Given the description of an element on the screen output the (x, y) to click on. 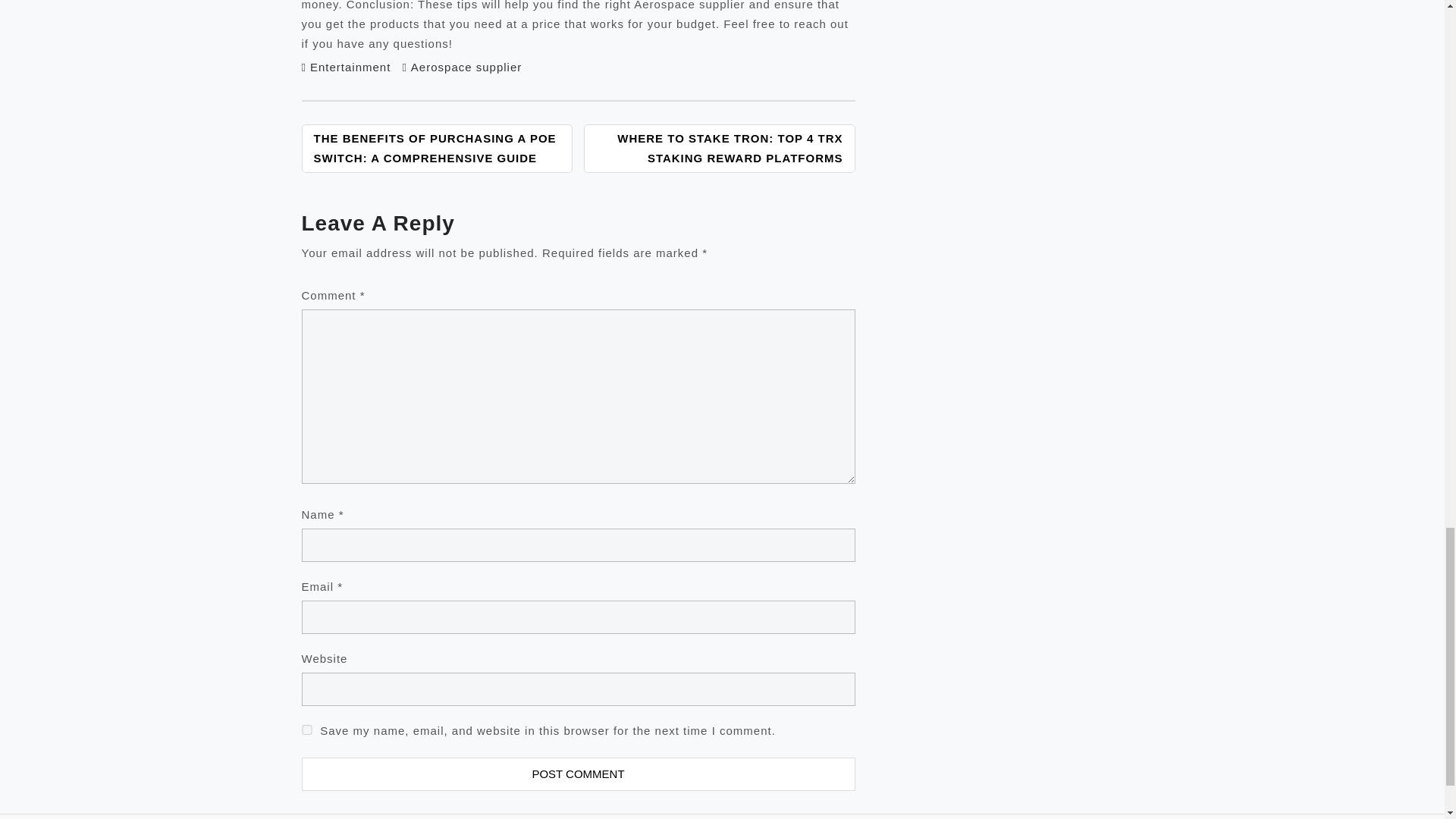
Post Comment (578, 774)
Post Comment (578, 774)
yes (307, 729)
WHERE TO STAKE TRON: TOP 4 TRX STAKING REWARD PLATFORMS (719, 148)
Aerospace supplier (465, 66)
Entertainment (350, 66)
